Given the description of an element on the screen output the (x, y) to click on. 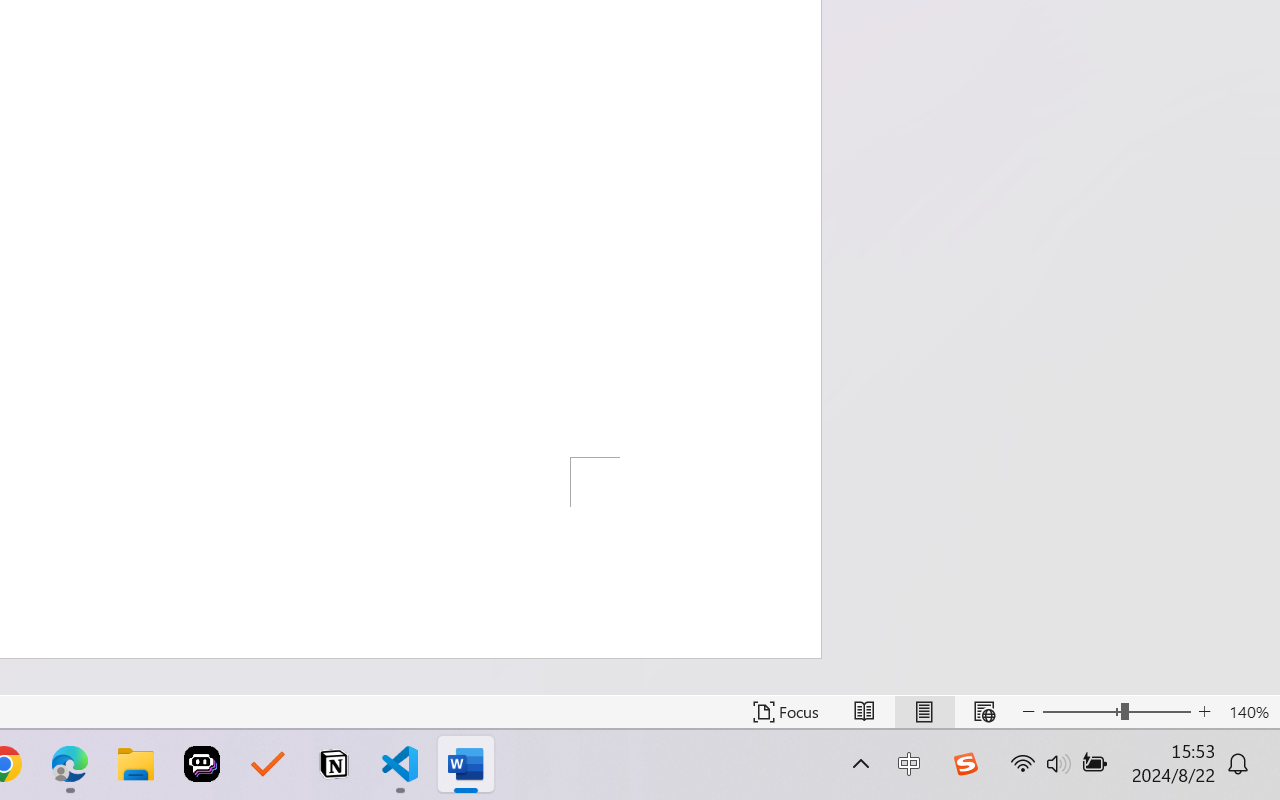
Zoom Out (1081, 712)
Read Mode (864, 712)
Notion (333, 764)
Poe (201, 764)
Class: Image (965, 764)
Zoom In (1204, 712)
Print Layout (924, 712)
Focus  (786, 712)
